Given the description of an element on the screen output the (x, y) to click on. 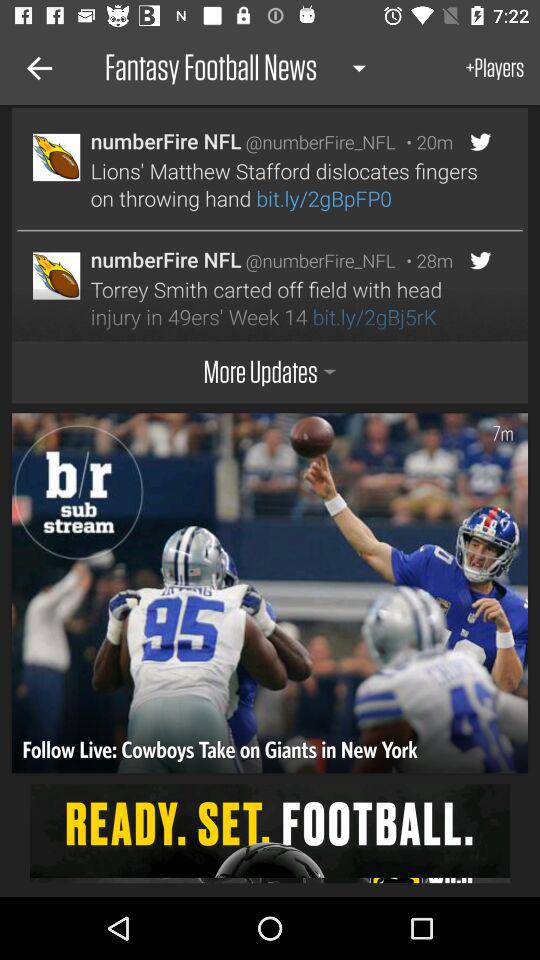
tap icon to the right of the fantasy football news (495, 67)
